Given the description of an element on the screen output the (x, y) to click on. 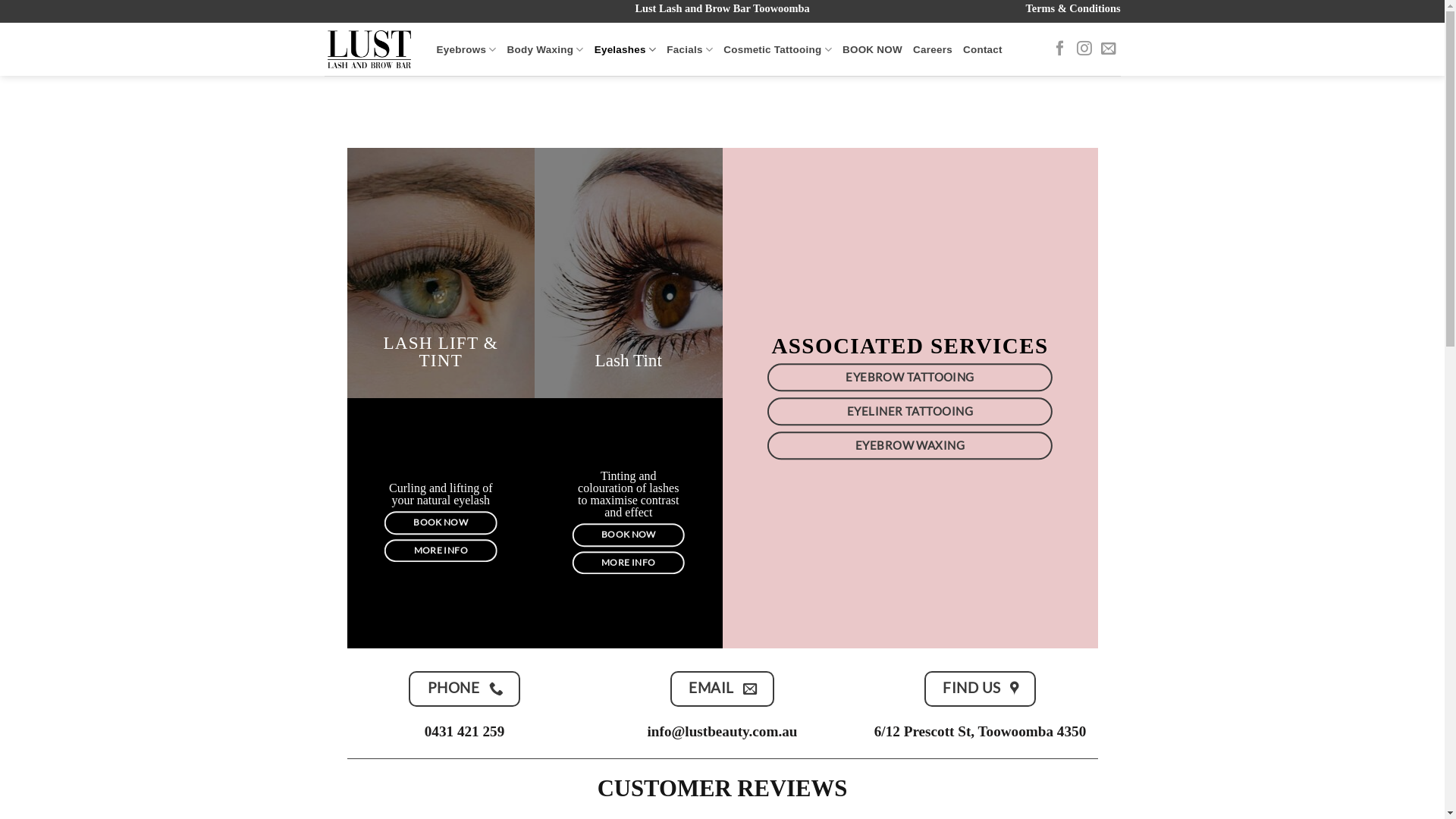
info@lustbeauty.com.au Element type: text (721, 731)
6/12 Prescott St, Toowoomba 4350 Element type: text (979, 731)
EYEBROW WAXING Element type: text (909, 445)
BOOK NOW Element type: text (872, 49)
MORE INFO Element type: text (627, 562)
PHONE Element type: text (463, 688)
Eyelashes Element type: text (625, 49)
FIND US Element type: text (979, 688)
EYEBROW TATTOOING Element type: text (909, 377)
EMAIL Element type: text (722, 688)
Follow on Instagram Element type: hover (1084, 48)
Careers Element type: text (932, 49)
Terms & Conditions Element type: text (1072, 8)
Eyebrows Element type: text (466, 49)
Contact Element type: text (982, 49)
Cosmetic Tattooing Element type: text (777, 49)
Facials Element type: text (689, 49)
EYELINER TATTOOING Element type: text (909, 411)
Follow on Facebook Element type: hover (1059, 48)
0431 421 259 Element type: text (464, 731)
BOOK NOW Element type: text (627, 535)
MORE INFO Element type: text (440, 550)
Send us an email Element type: hover (1108, 48)
BOOK NOW Element type: text (440, 522)
Body Waxing Element type: text (545, 49)
